Given the description of an element on the screen output the (x, y) to click on. 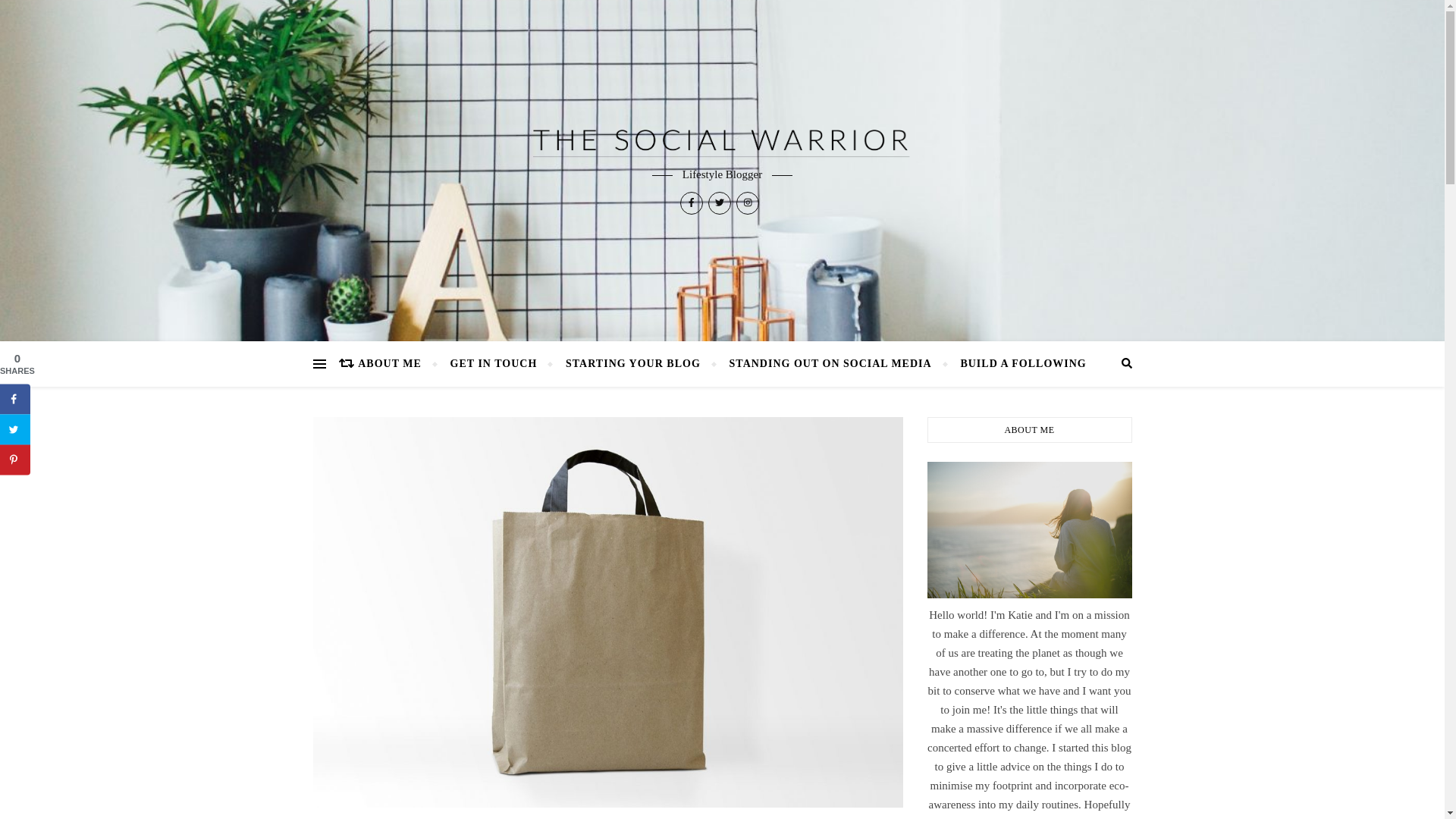
GET IN TOUCH (494, 363)
STANDING OUT ON SOCIAL MEDIA (830, 363)
BUILD A FOLLOWING (1016, 363)
STARTING YOUR BLOG (633, 363)
ABOUT ME (395, 363)
The Social Warrior (721, 142)
Share on Facebook (15, 399)
